Given the description of an element on the screen output the (x, y) to click on. 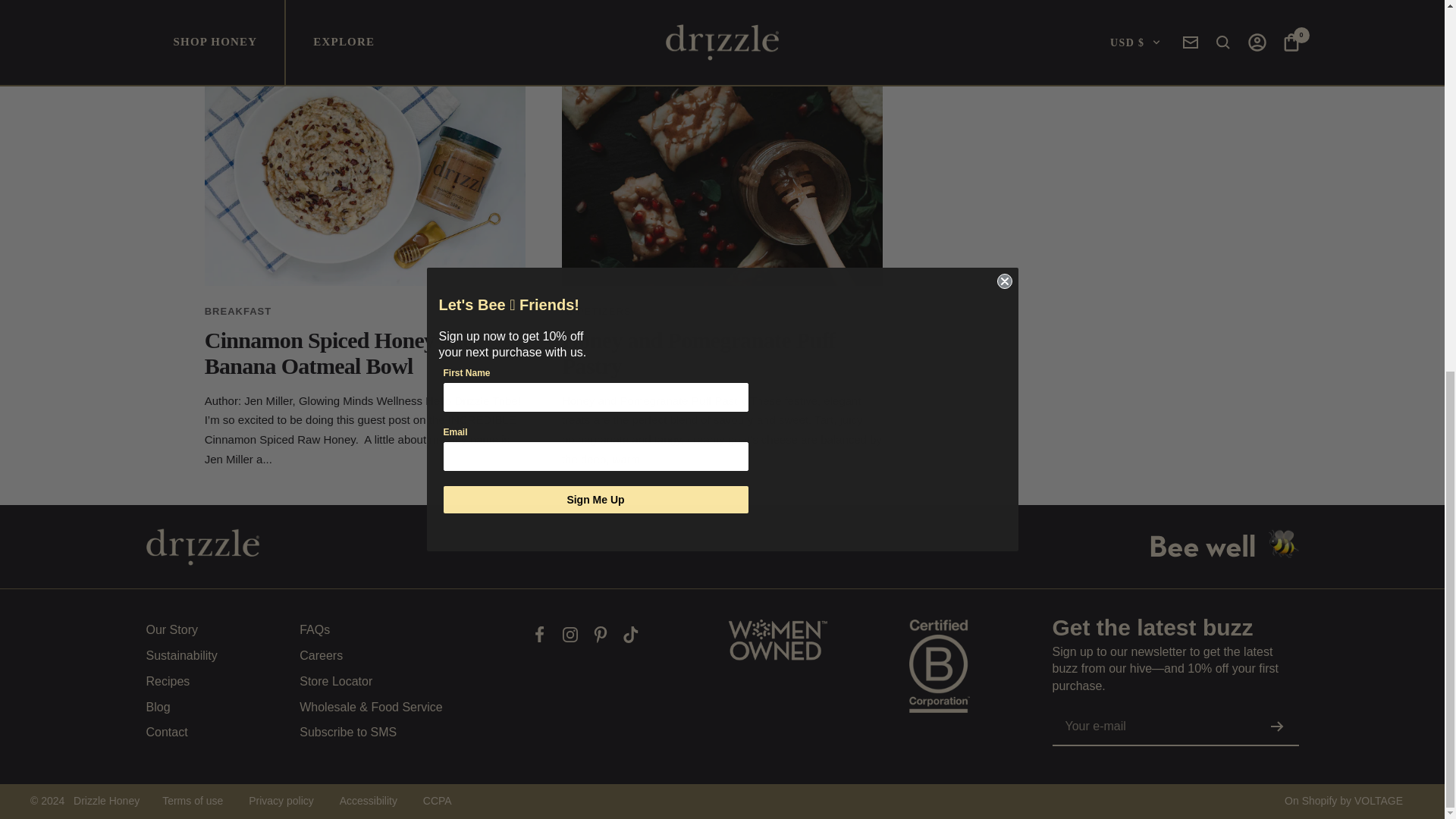
Our Story (170, 629)
Sustainability (180, 655)
APPETIZERS (596, 310)
Register (1277, 726)
Cinnamon Spiced Honey and Banana Oatmeal Bowl (340, 352)
BREAKFAST (237, 310)
Blog (157, 707)
Honey and Pomegranate Puff Pastry (698, 352)
Recipes (167, 681)
